Given the description of an element on the screen output the (x, y) to click on. 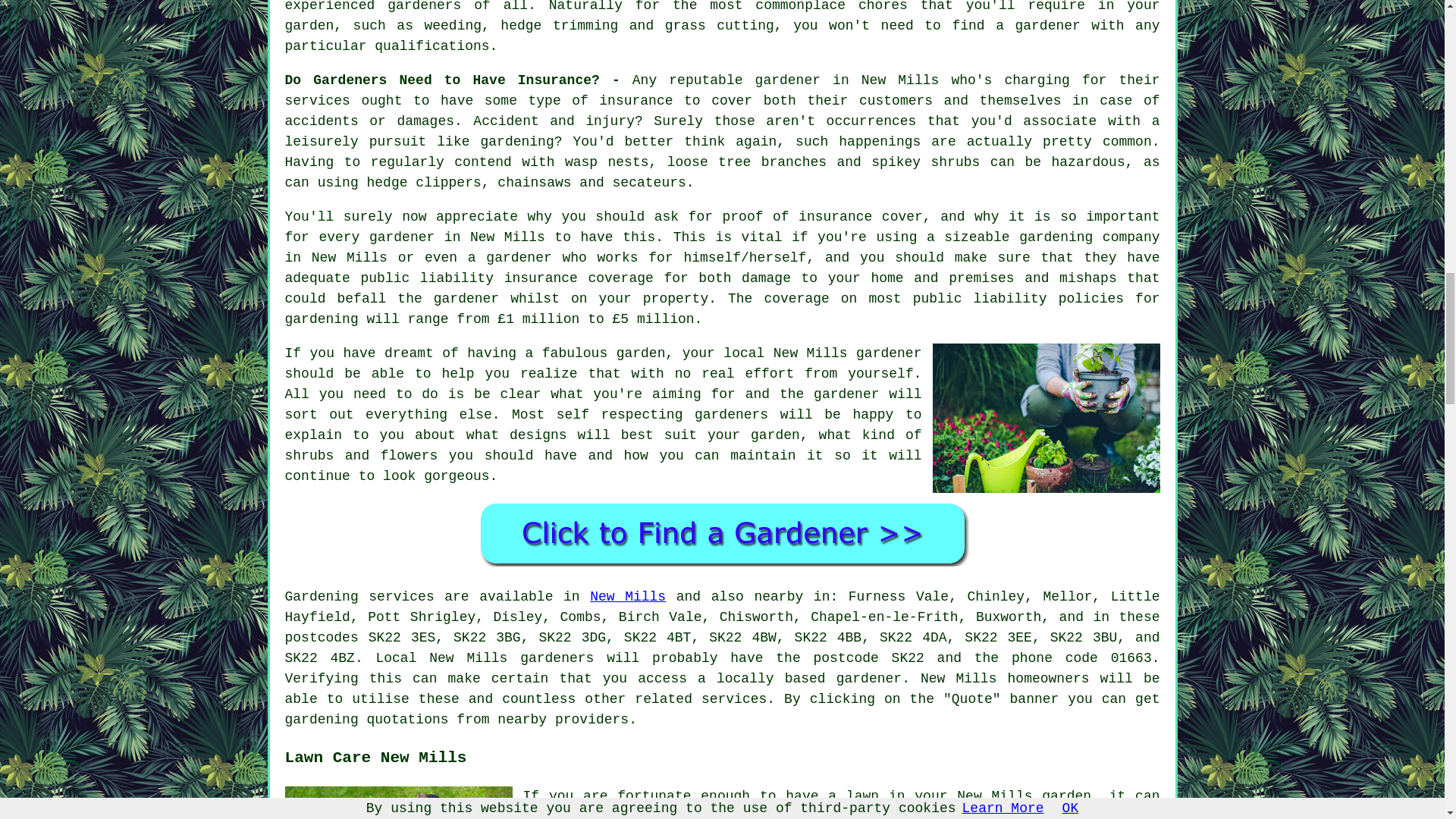
gardener (888, 353)
maintain it (777, 455)
Lawn Mowing New Mills Derbyshire (398, 802)
garden (640, 353)
gardening company (1088, 237)
